Given the description of an element on the screen output the (x, y) to click on. 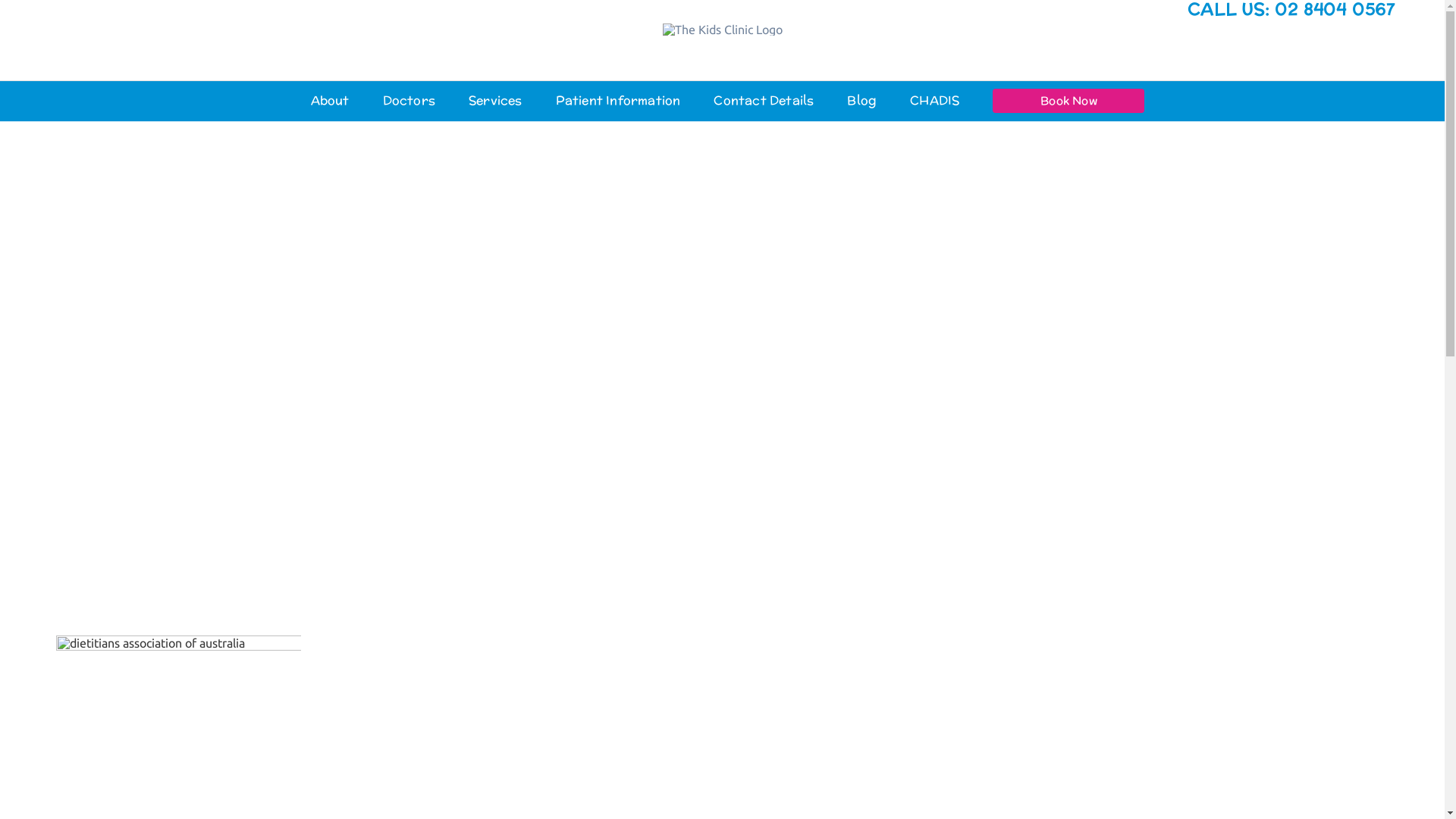
Contact Details Element type: text (763, 100)
Book Now Element type: text (1068, 100)
Services Element type: text (495, 100)
Blog Element type: text (861, 100)
Patient Information Element type: text (618, 100)
Doctors Element type: text (408, 100)
dietitians association of australia Element type: hover (178, 692)
The Web Clinic Element type: text (896, 773)
CHADIS Element type: text (934, 100)
About Element type: text (329, 100)
